Given the description of an element on the screen output the (x, y) to click on. 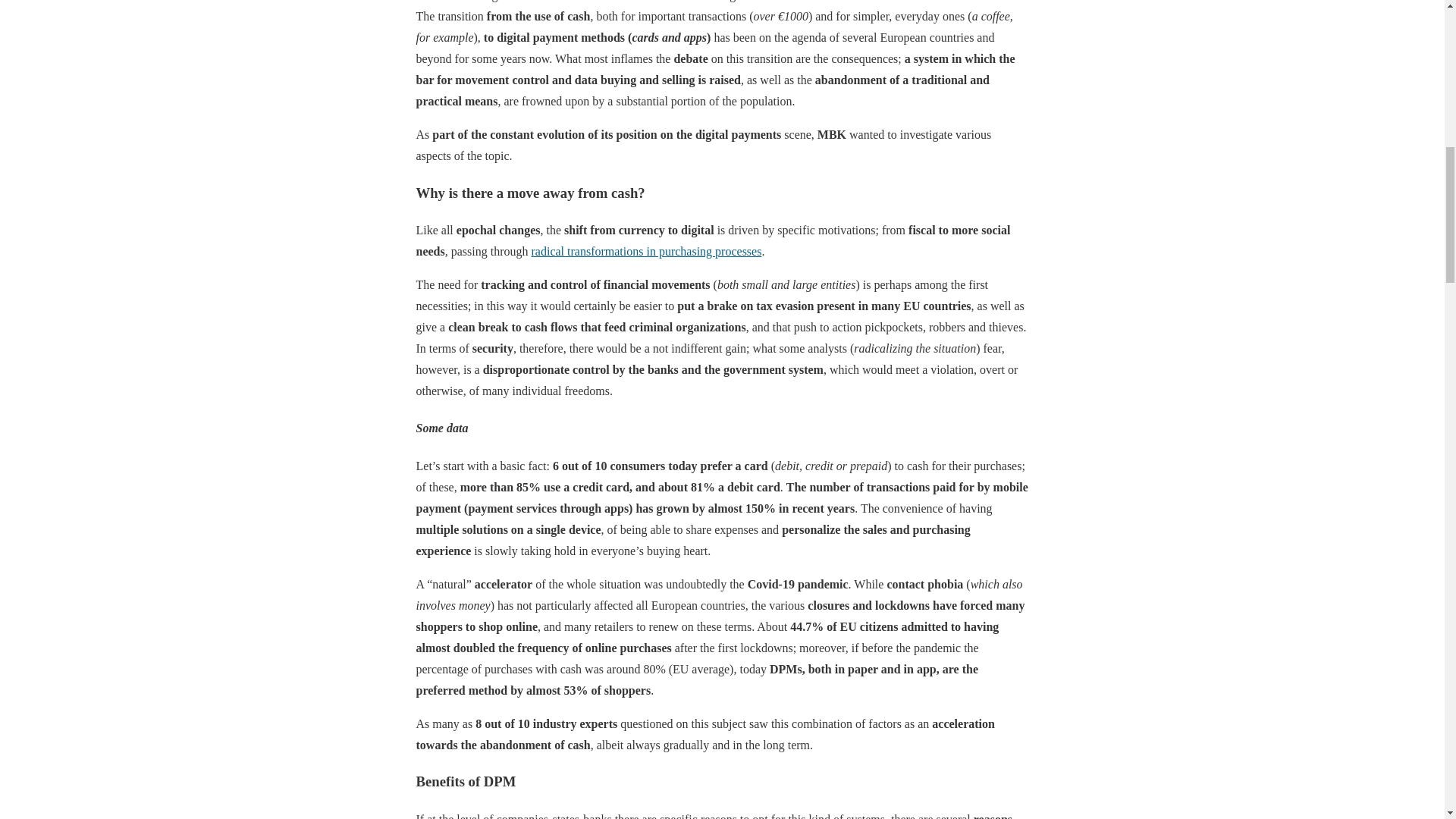
radical transformations in purchasing processes (646, 250)
